Given the description of an element on the screen output the (x, y) to click on. 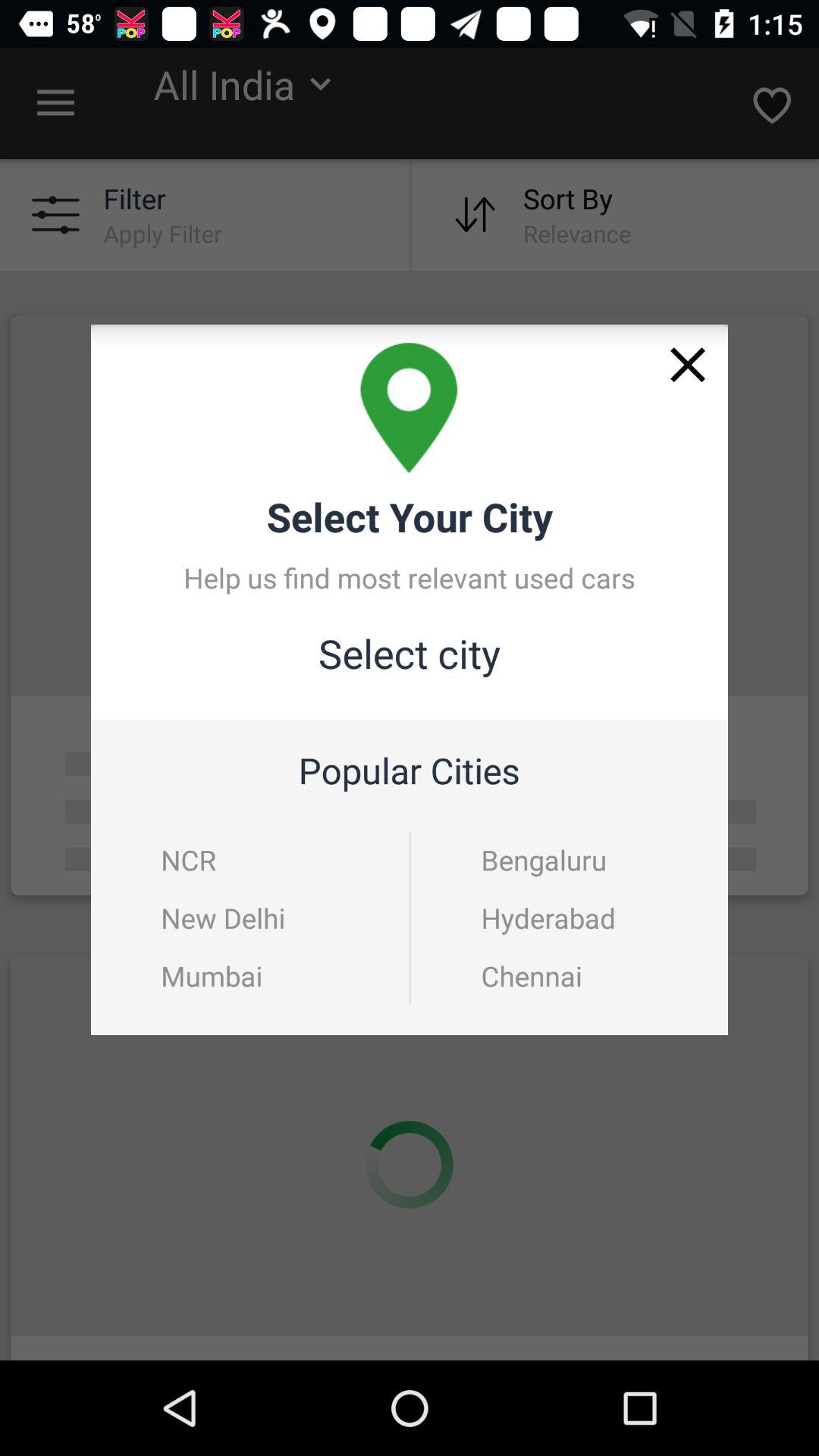
swipe to the bengaluru (569, 859)
